Given the description of an element on the screen output the (x, y) to click on. 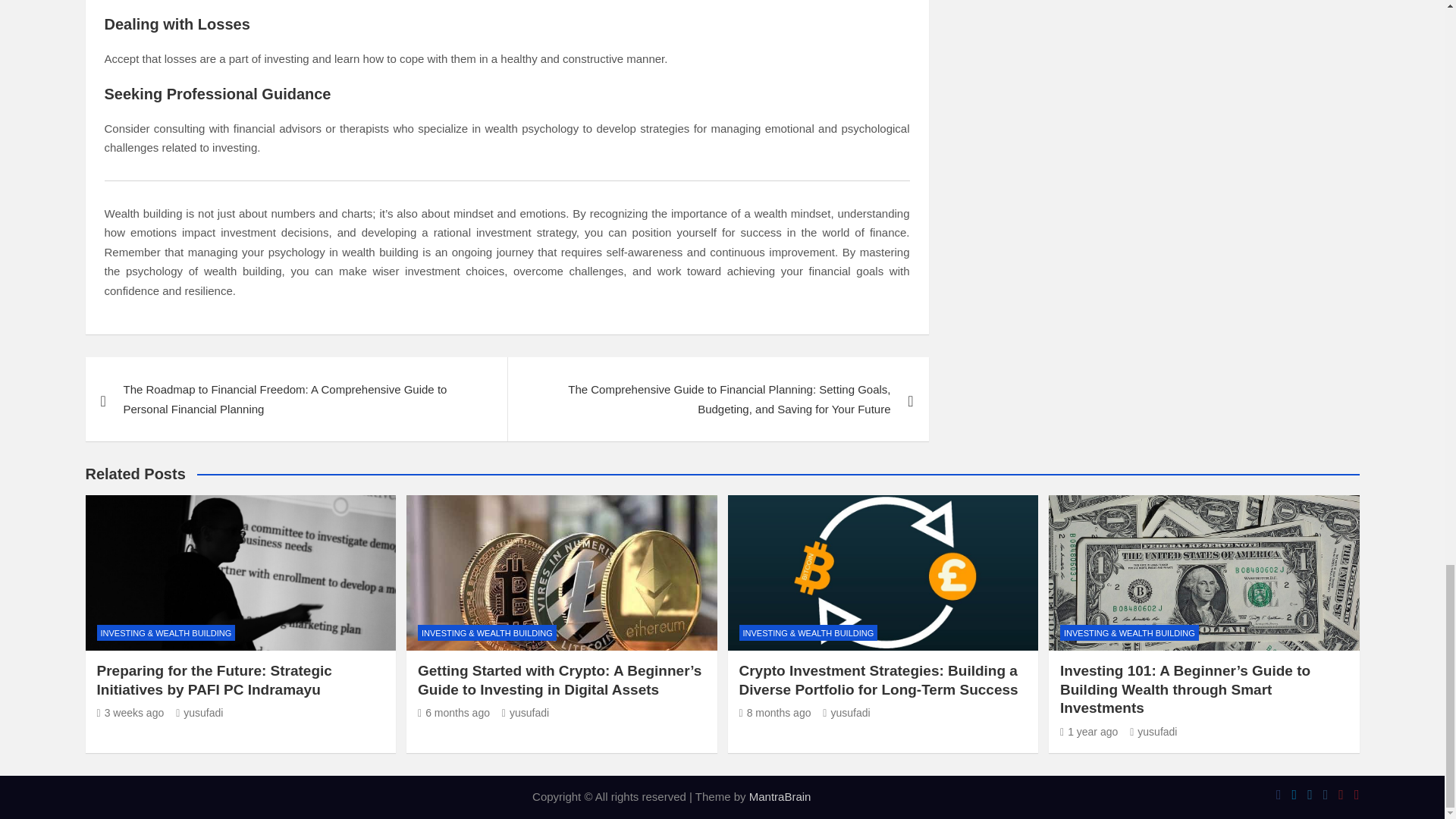
MantraBrain (779, 796)
